Given the description of an element on the screen output the (x, y) to click on. 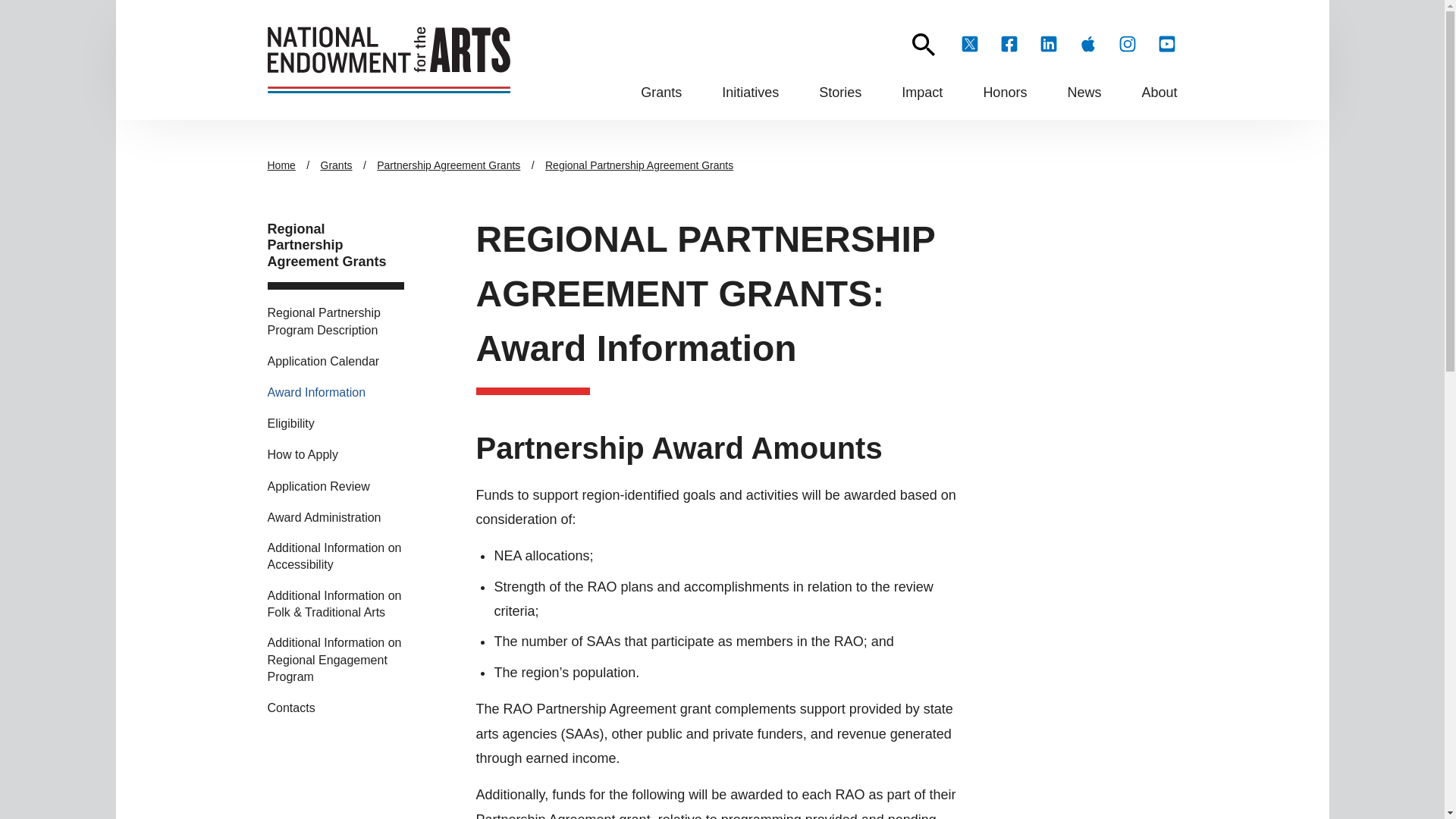
Follow us on LinkedIn (1047, 43)
Search (922, 44)
Follow us on instagram (1126, 43)
Follow us on X (968, 43)
Grants (660, 92)
Home (387, 59)
Follow us on youtube (1166, 43)
Follow us on facebook (1008, 43)
Apple store (1087, 43)
Skip to main content (722, 6)
Initiatives (750, 92)
